Given the description of an element on the screen output the (x, y) to click on. 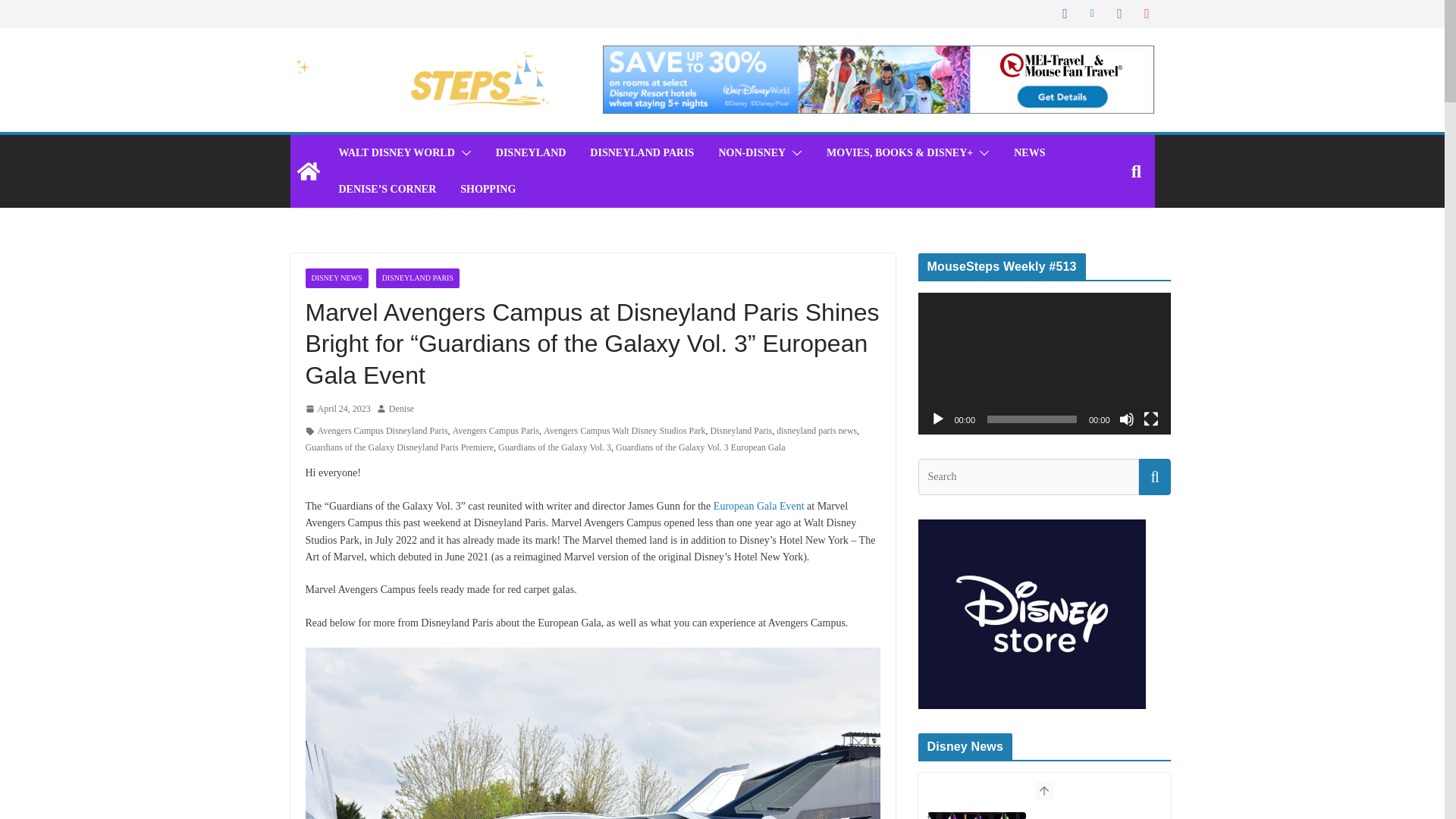
WALT DISNEY WORLD (395, 152)
3:50 pm (336, 409)
Mousesteps (307, 171)
Play (937, 418)
Denise (400, 409)
